Given the description of an element on the screen output the (x, y) to click on. 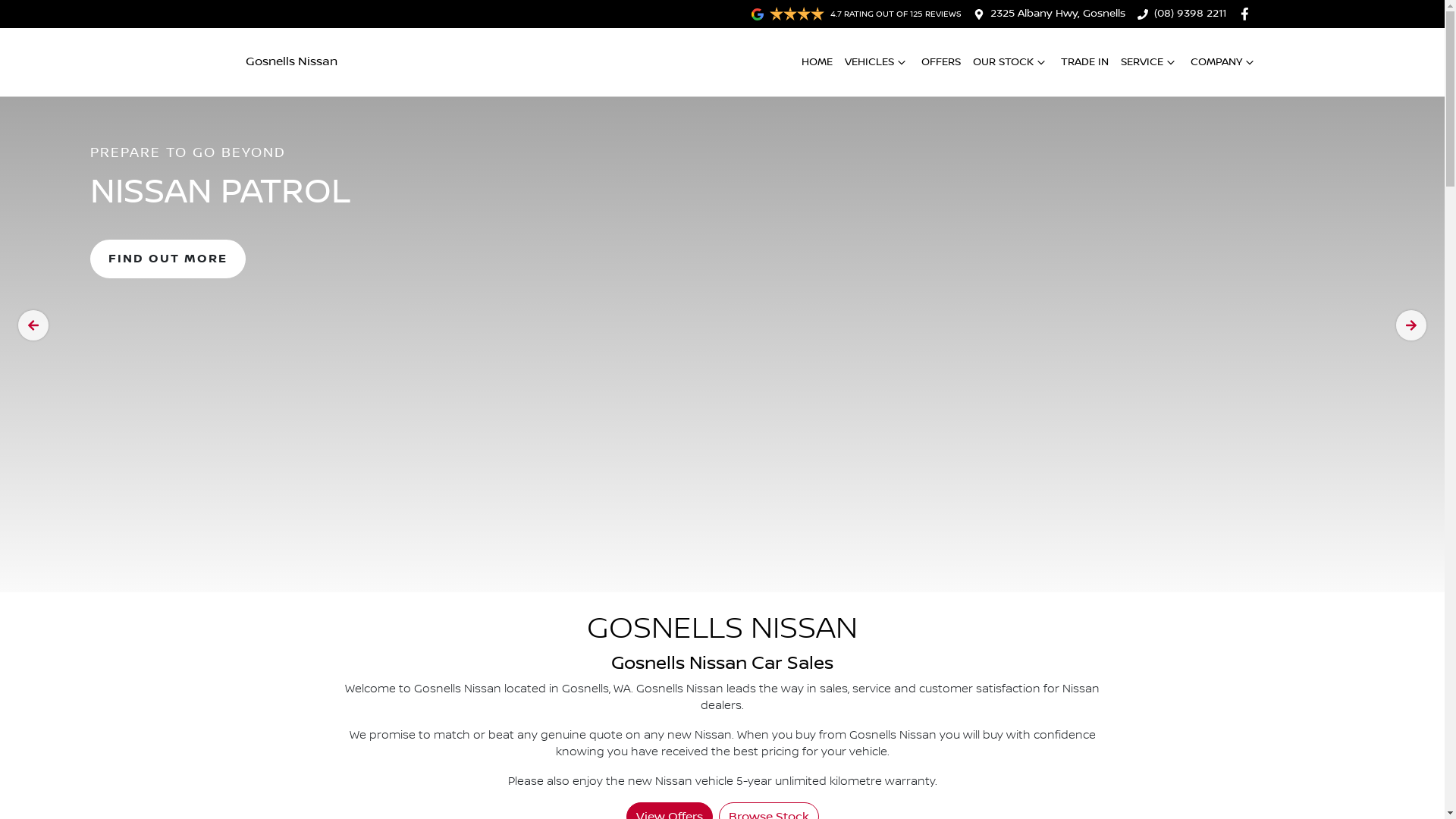
COMPANY Element type: text (1223, 62)
PREPARE TO GO BEYOND
NISSAN PATROL
FIND OUT MORE Element type: text (722, 325)
OUR STOCK Element type: text (1010, 62)
HOME Element type: text (815, 62)
VEHICLES Element type: text (876, 62)
TRADE IN Element type: text (1083, 62)
2325 Albany Hwy, Gosnells Element type: text (1057, 13)
Gosnells Nissan Element type: text (262, 62)
OFFERS Element type: text (940, 62)
(08) 9398 2211 Element type: text (1190, 13)
SERVICE Element type: text (1149, 62)
